Given the description of an element on the screen output the (x, y) to click on. 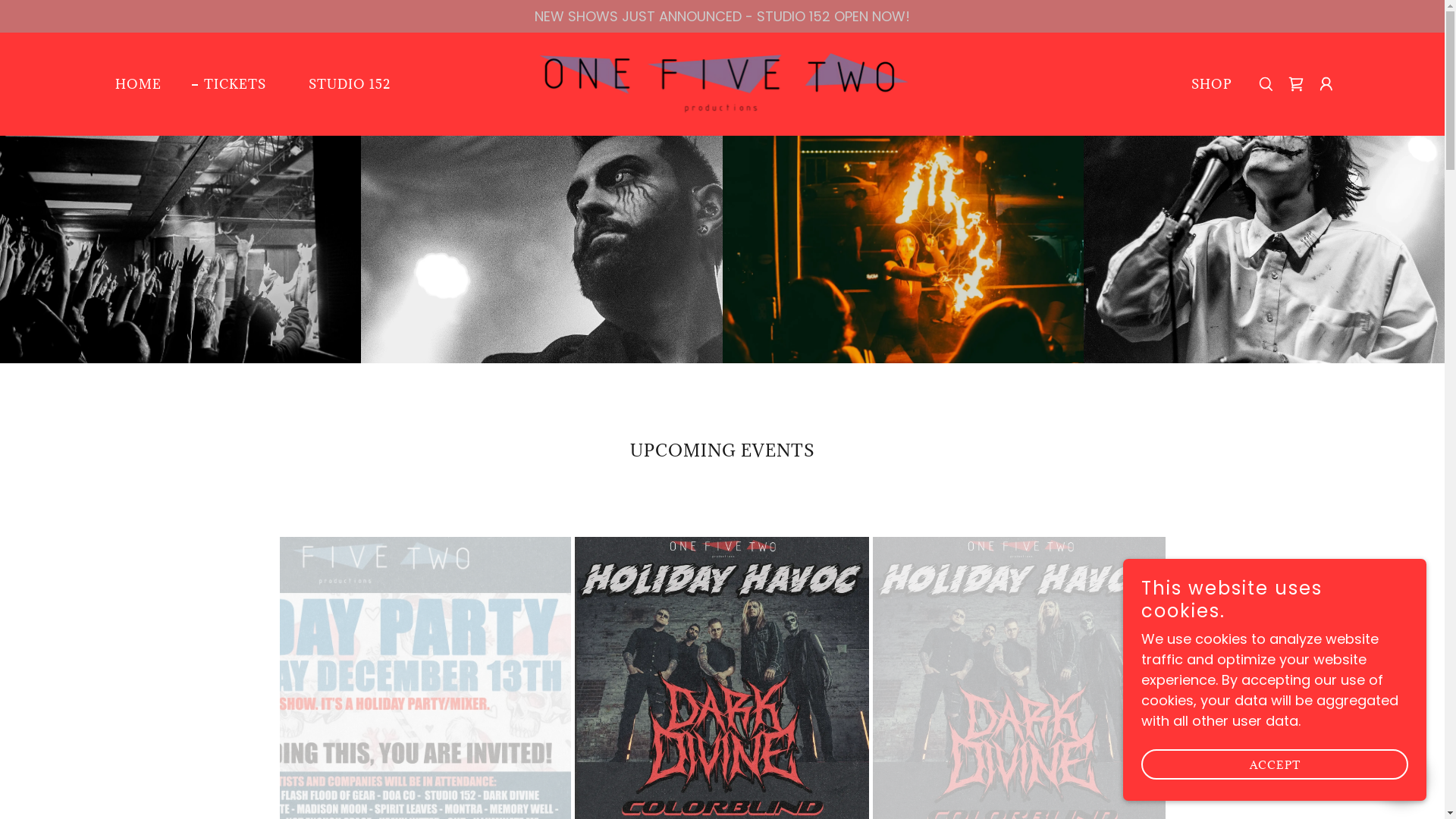
152 Productions Element type: hover (722, 82)
ACCEPT Element type: text (1274, 764)
NEW SHOWS JUST ANNOUNCED - STUDIO 152 OPEN NOW! Element type: text (722, 16)
TICKETS Element type: text (228, 84)
HOME Element type: text (132, 83)
STUDIO 152 Element type: text (343, 83)
SHOP Element type: text (1205, 83)
